Given the description of an element on the screen output the (x, y) to click on. 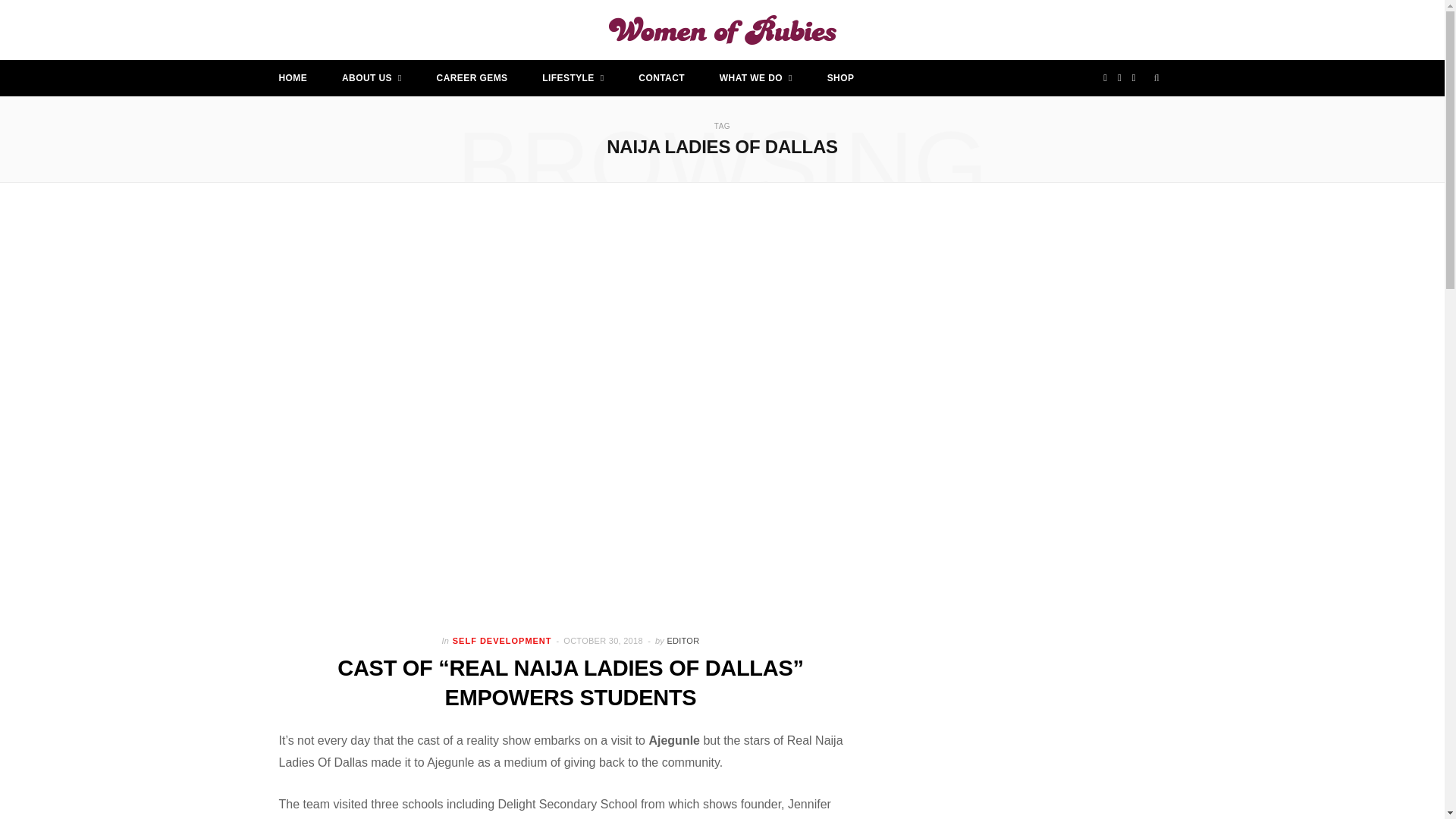
OCTOBER 30, 2018 (604, 640)
SELF DEVELOPMENT (501, 640)
EDITOR (682, 640)
LIFESTYLE (572, 77)
ABOUT US (371, 77)
WHAT WE DO (755, 77)
CONTACT (661, 77)
CAREER GEMS (472, 77)
HOME (292, 77)
Women of Rubies (721, 30)
